Given the description of an element on the screen output the (x, y) to click on. 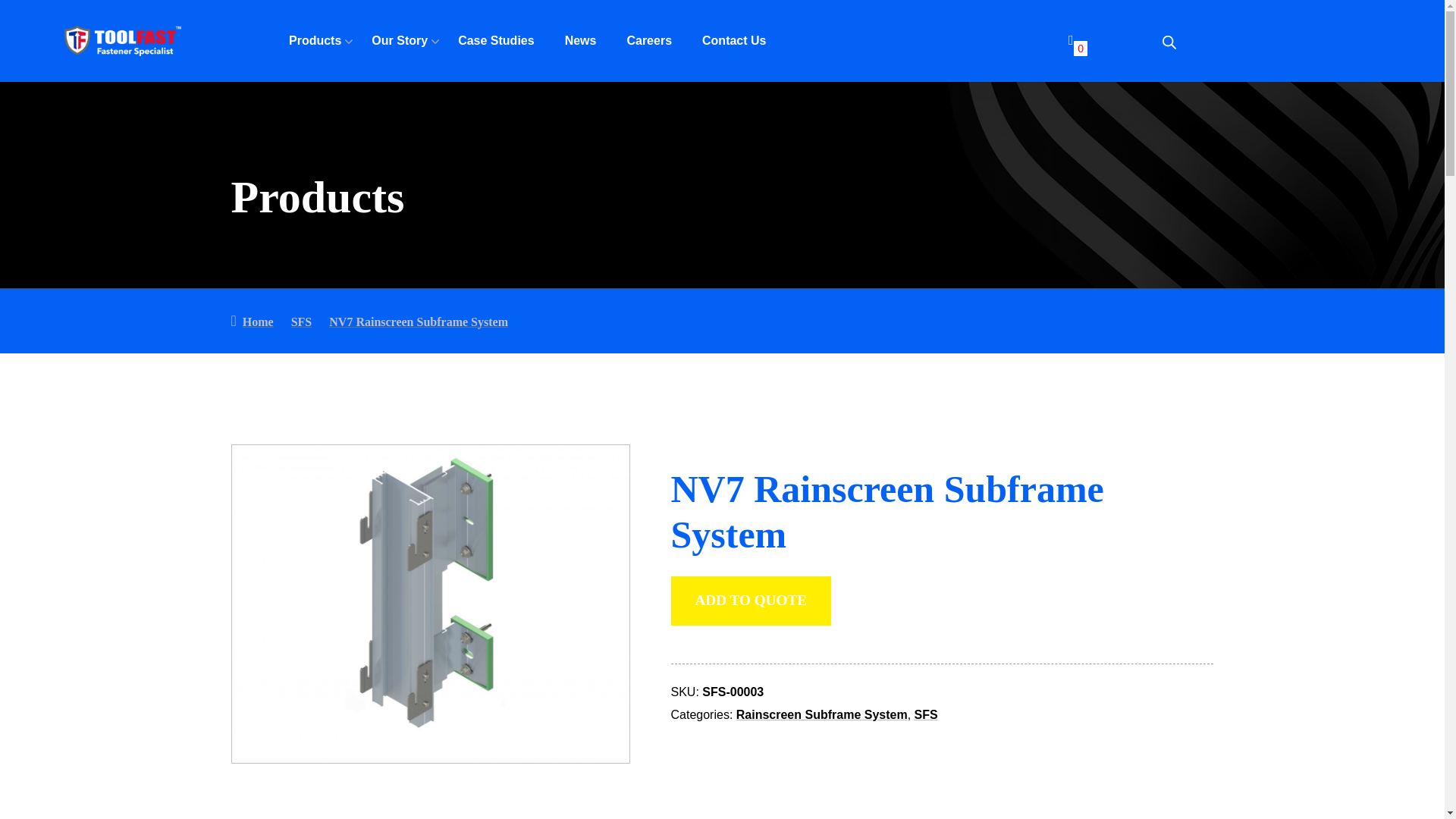
Case Studies (496, 40)
Products (314, 40)
Careers (648, 40)
Contact Us (733, 40)
NV7 system (429, 603)
Our Story (399, 40)
News (580, 40)
